Given the description of an element on the screen output the (x, y) to click on. 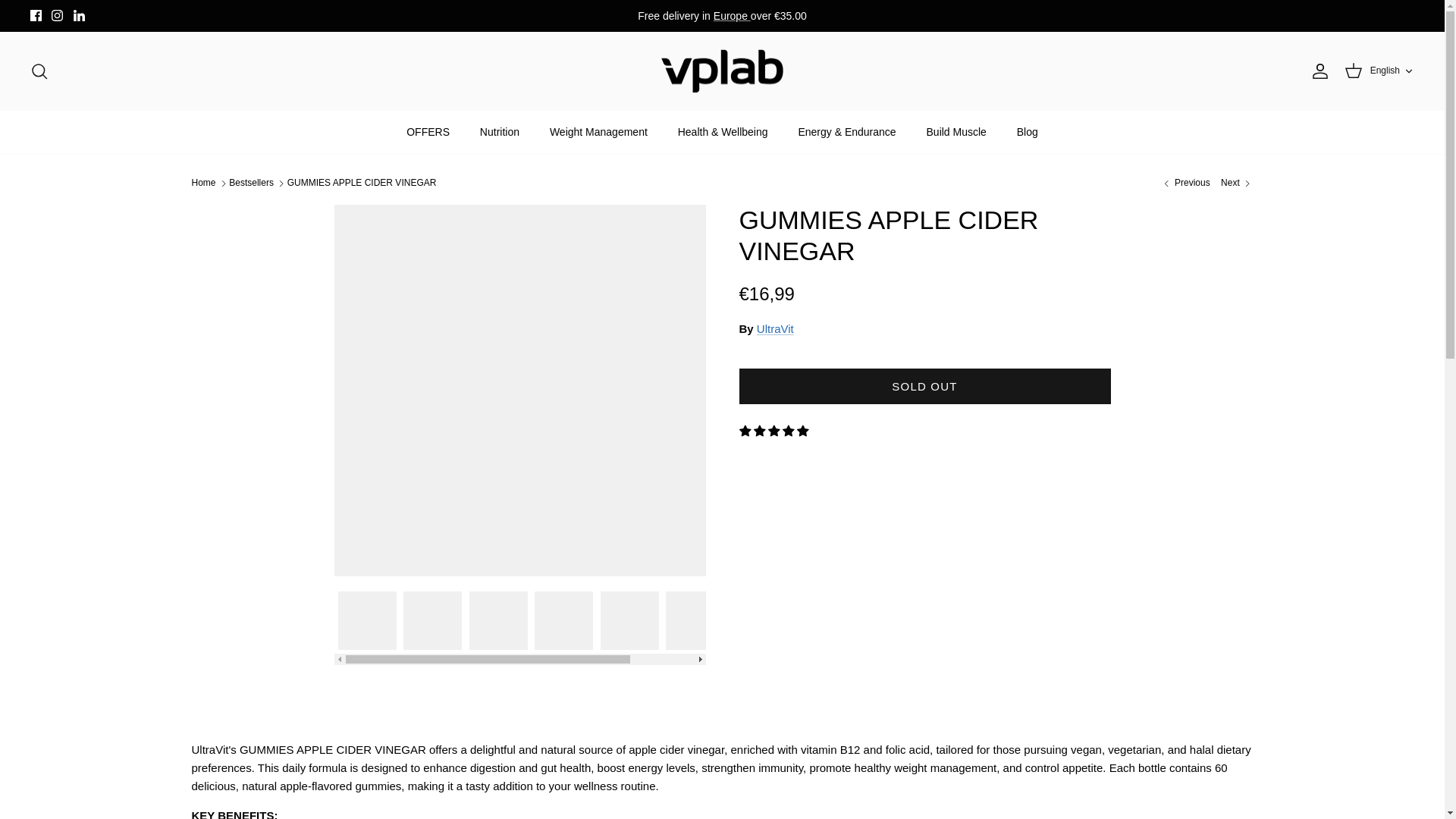
Instagram (56, 15)
VITAMIN D3 4000 IU (1184, 182)
OFFERS (428, 131)
Europe (732, 15)
Facebook (36, 15)
Nutrition (498, 131)
BCAA 2:1:1 (1236, 182)
Cart (1352, 71)
Delivery questions (732, 15)
Facebook (36, 15)
Instagram (1391, 70)
Account (56, 15)
Search (1316, 71)
Down (39, 71)
